Given the description of an element on the screen output the (x, y) to click on. 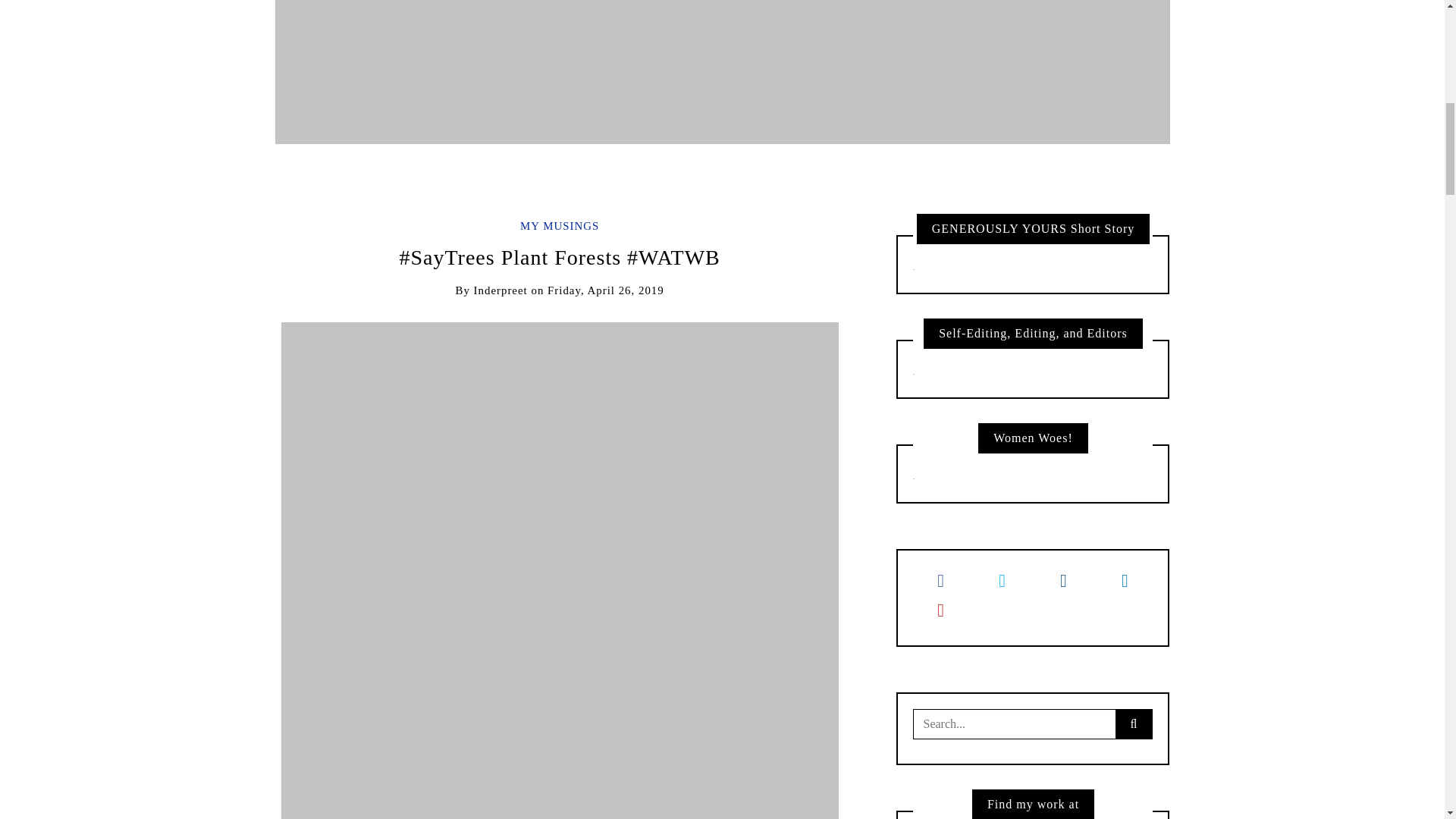
Posts by Inderpreet (500, 290)
Inderpreet (500, 290)
Friday, April 26, 2019 (605, 290)
MY MUSINGS (558, 225)
